Given the description of an element on the screen output the (x, y) to click on. 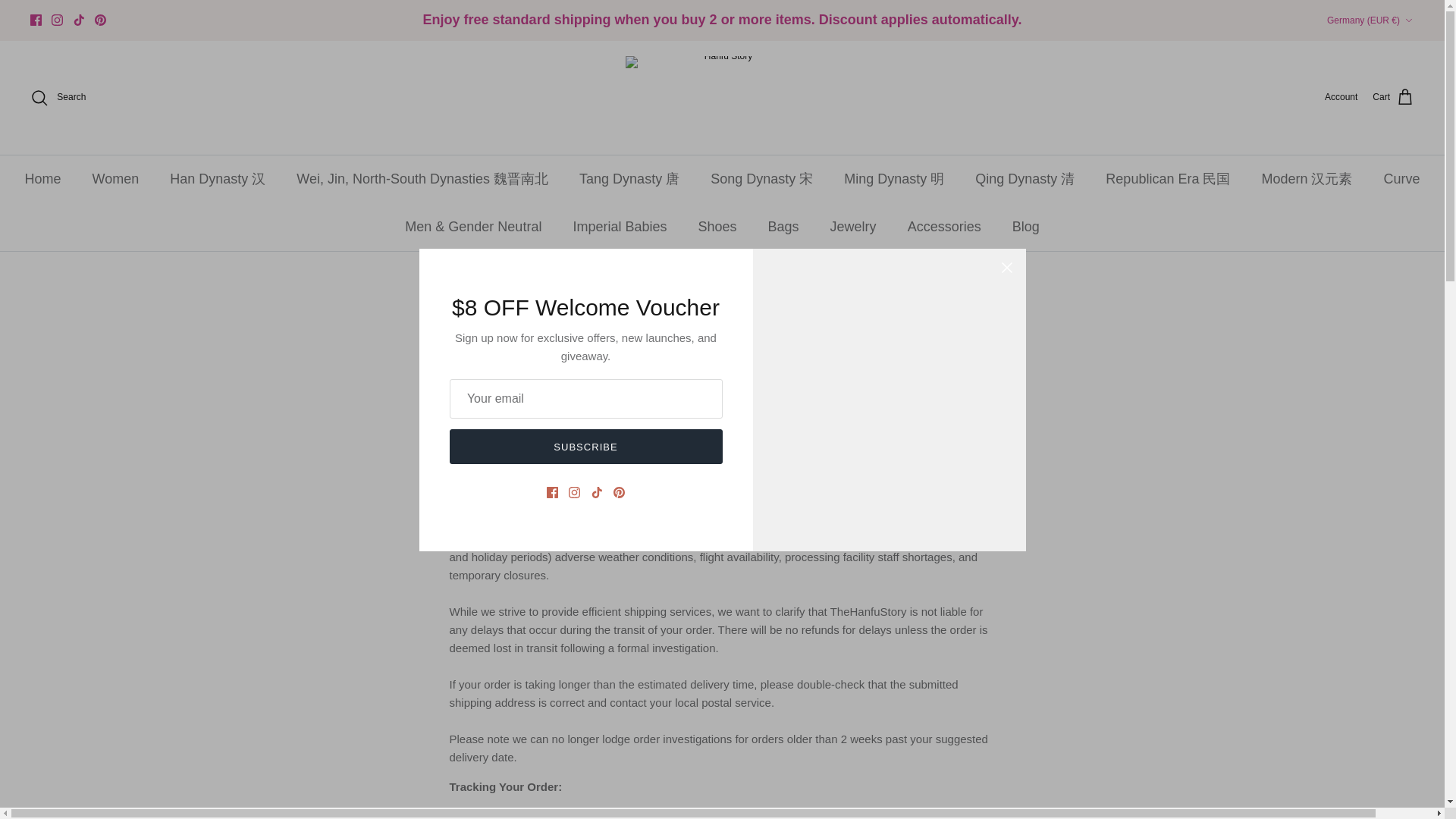
Facebook (36, 19)
Instagram (56, 19)
Pinterest (100, 19)
Instagram (56, 19)
Hanfu Story (722, 97)
Pinterest (100, 19)
Down (1408, 20)
Facebook (36, 19)
